Given the description of an element on the screen output the (x, y) to click on. 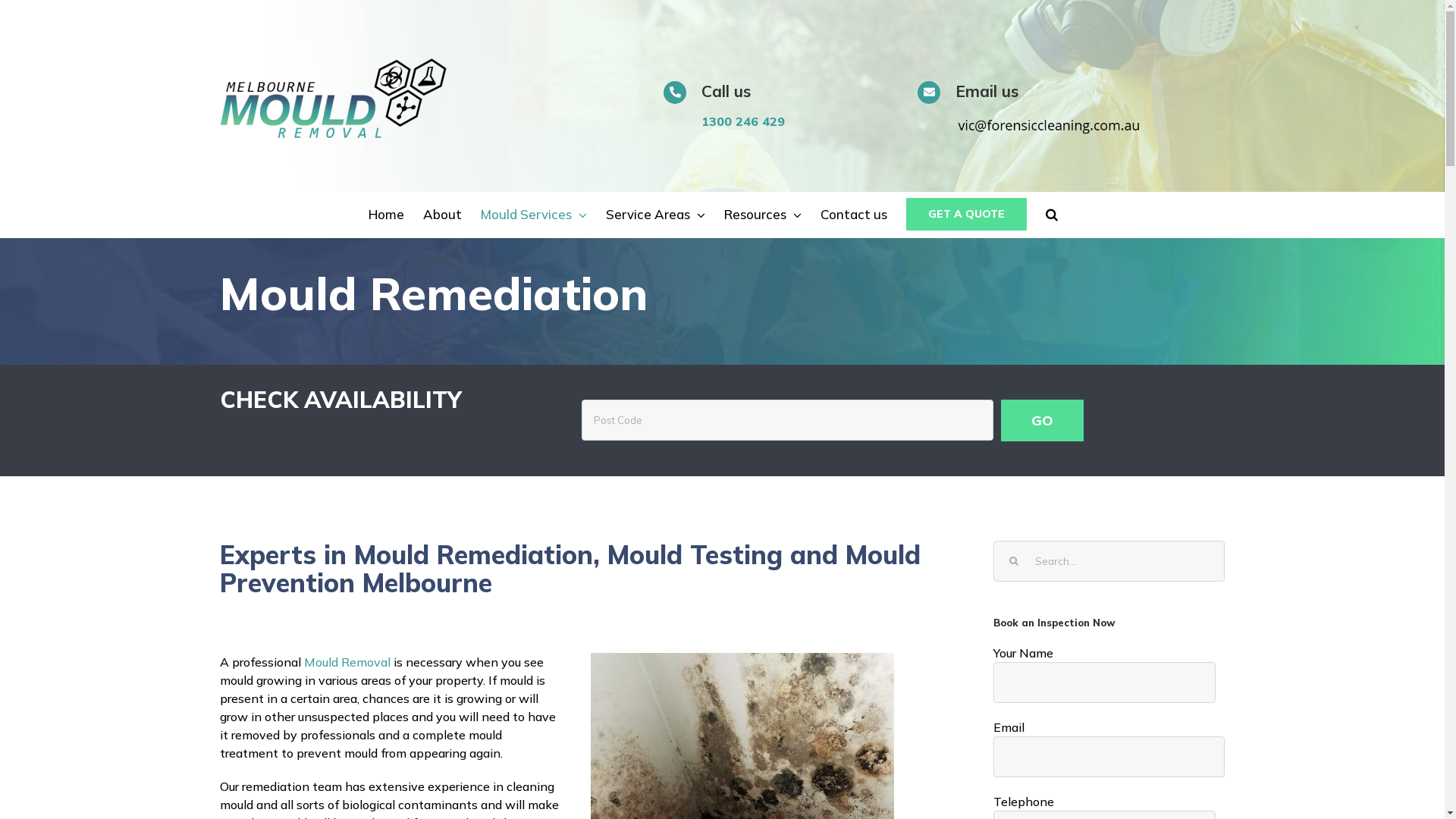
Mould Removal Element type: text (347, 661)
1300 246 429 Element type: text (797, 121)
Mould Services Element type: text (533, 214)
GET A QUOTE Element type: text (965, 214)
Home Element type: text (386, 214)
Resources Element type: text (761, 214)
Contact us Element type: text (853, 214)
Service Areas Element type: text (654, 214)
Search Element type: hover (1050, 214)
About Element type: text (442, 214)
GO Element type: text (1042, 420)
